Given the description of an element on the screen output the (x, y) to click on. 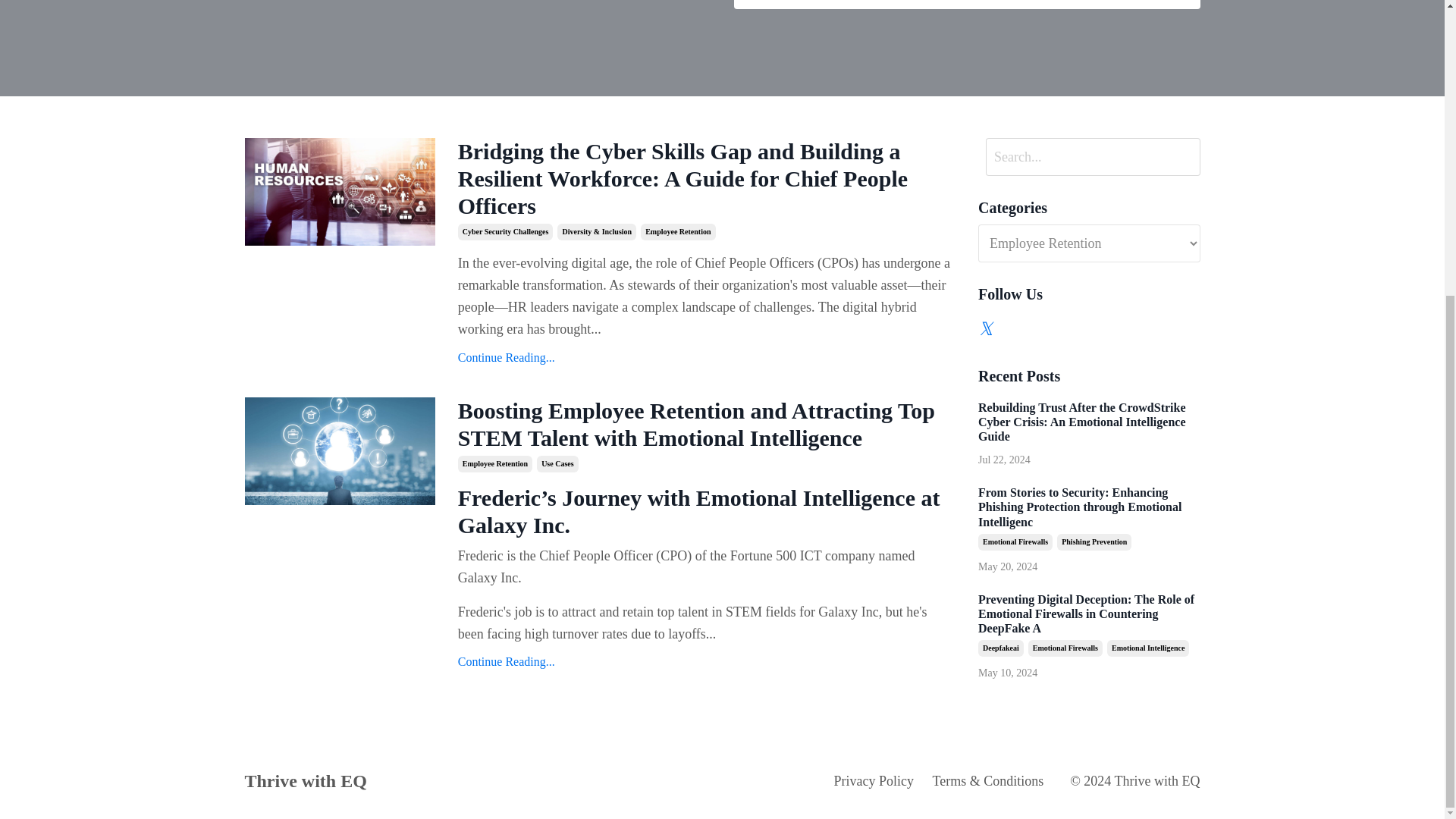
Emotional Firewalls (1064, 647)
Continue Reading... (706, 357)
Continue Reading... (706, 661)
Phishing Prevention (1094, 541)
Employee Retention (495, 463)
Deepfakeai (1000, 647)
Employee Retention (677, 231)
